Given the description of an element on the screen output the (x, y) to click on. 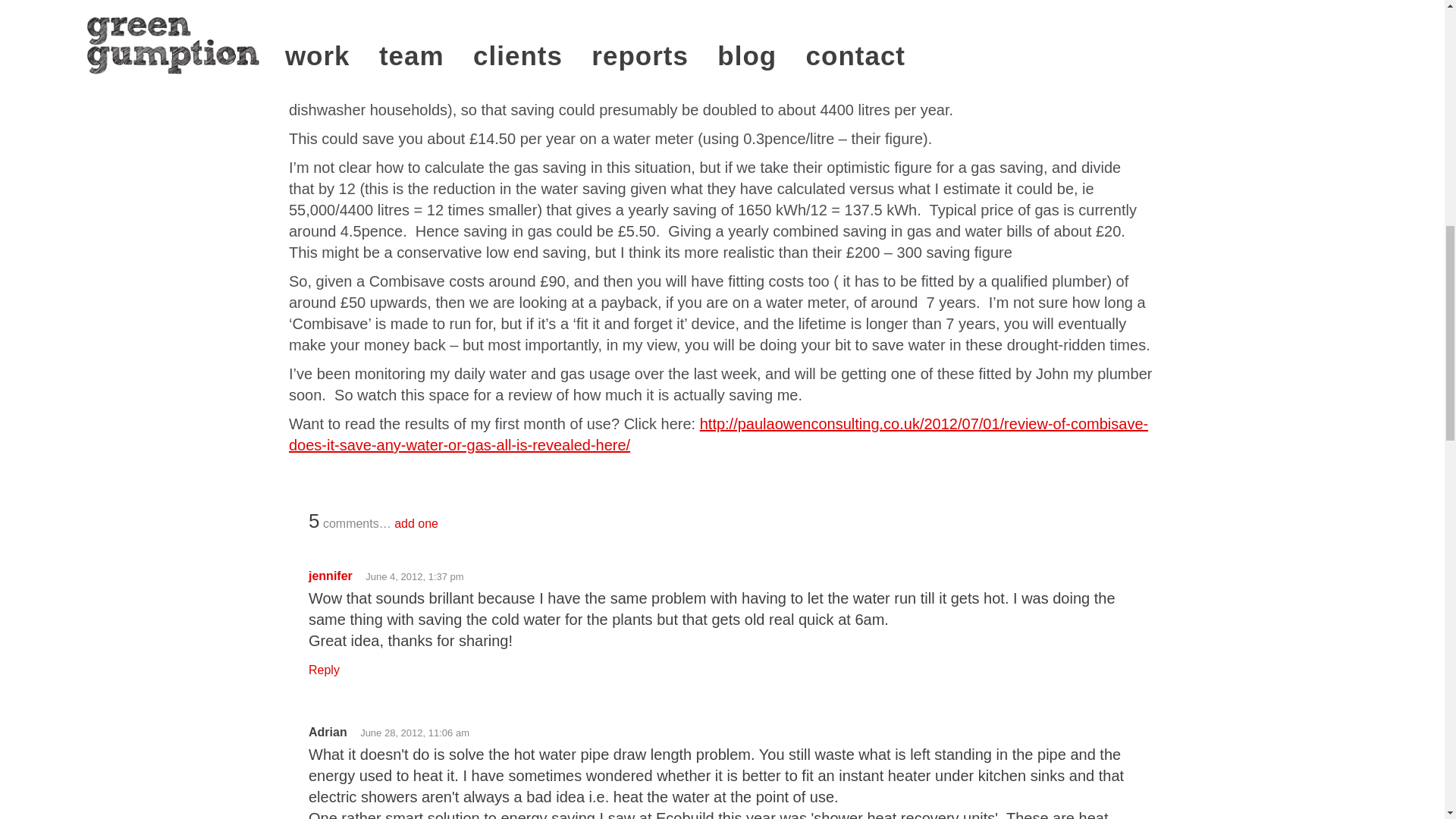
add one (416, 522)
jennifer (330, 575)
Reply (323, 669)
